Given the description of an element on the screen output the (x, y) to click on. 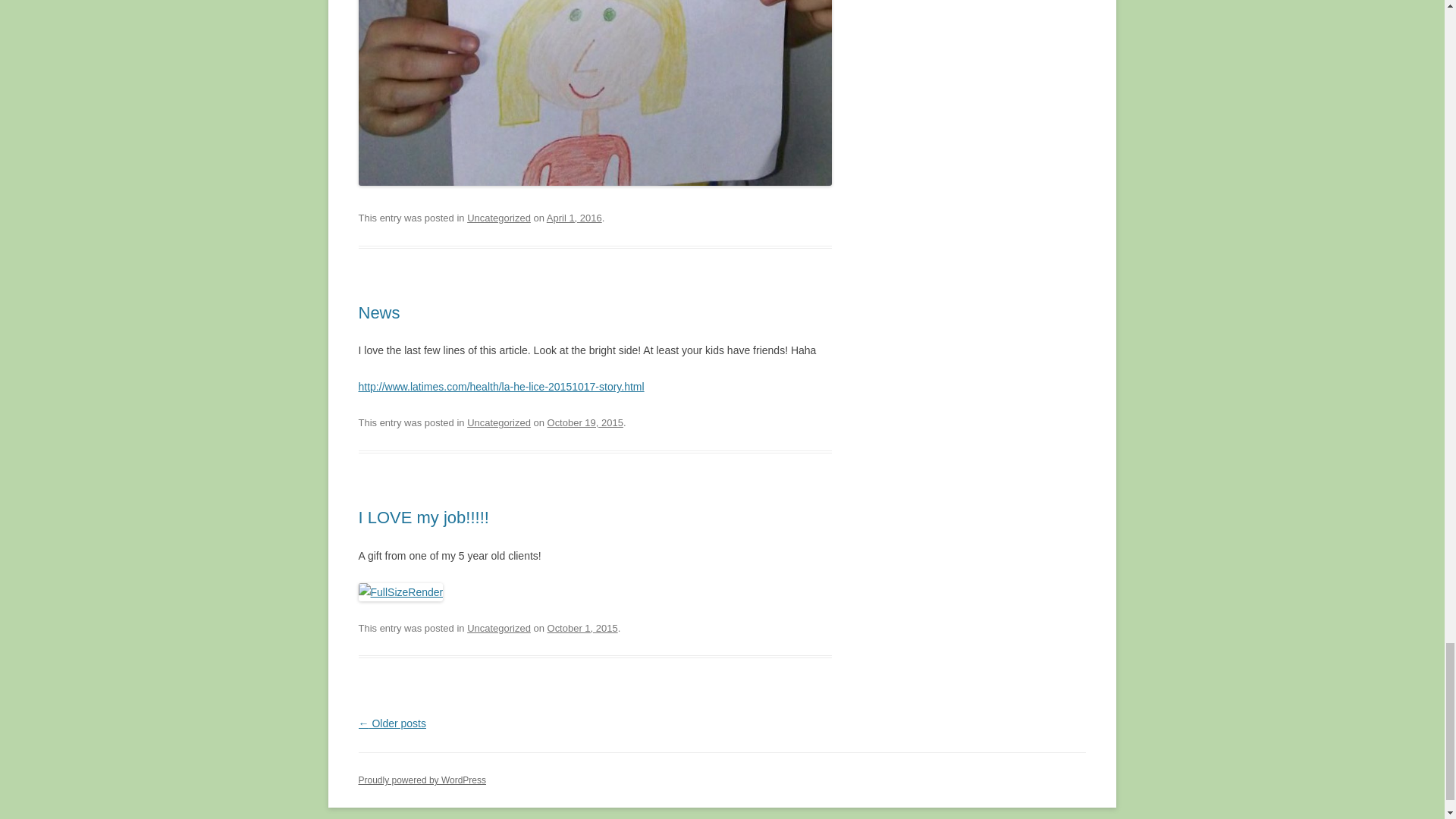
2:57 pm (585, 422)
11:54 am (574, 217)
